Given the description of an element on the screen output the (x, y) to click on. 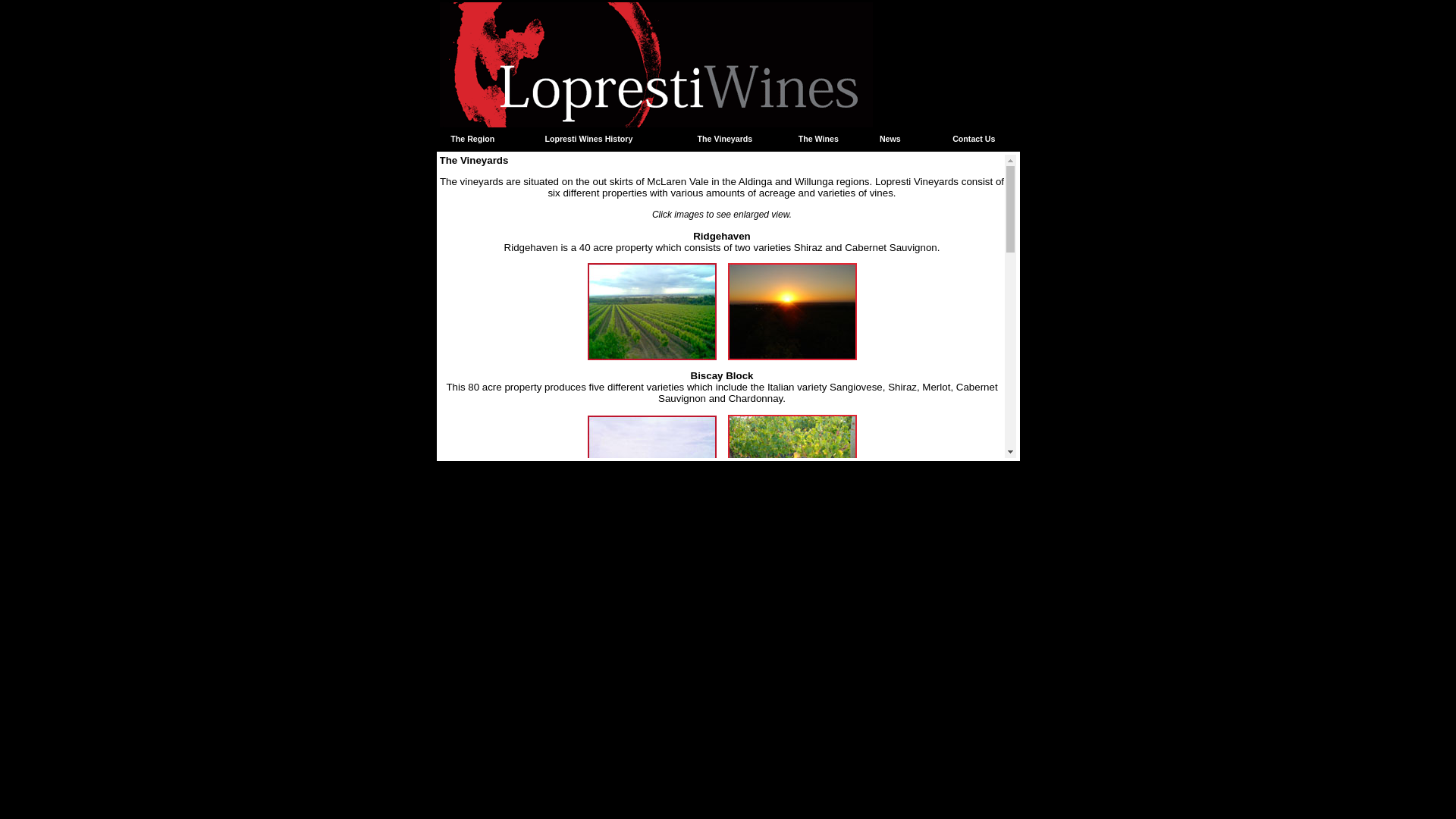
The Region Element type: text (472, 138)
The Vineyards Element type: text (725, 138)
Contact Us Element type: text (973, 138)
News Element type: text (889, 138)
Lopresti Wines History Element type: text (588, 138)
The Wines Element type: text (818, 138)
